Given the description of an element on the screen output the (x, y) to click on. 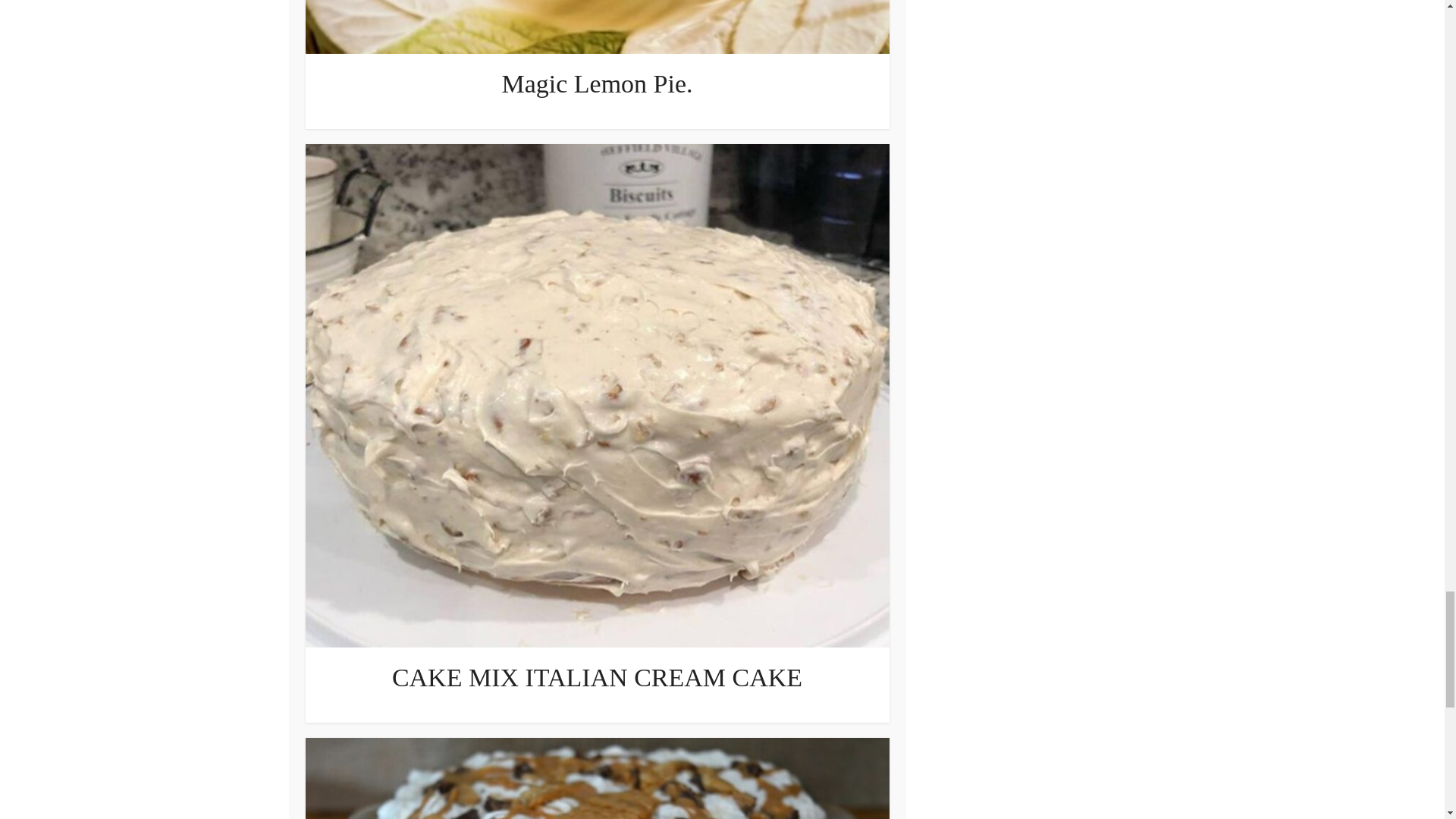
CAKE MIX ITALIAN CREAM CAKE (596, 677)
Magic Lemon Pie. (596, 83)
Magic Lemon Pie. (596, 83)
CAKE MIX ITALIAN CREAM CAKE (596, 677)
